Given the description of an element on the screen output the (x, y) to click on. 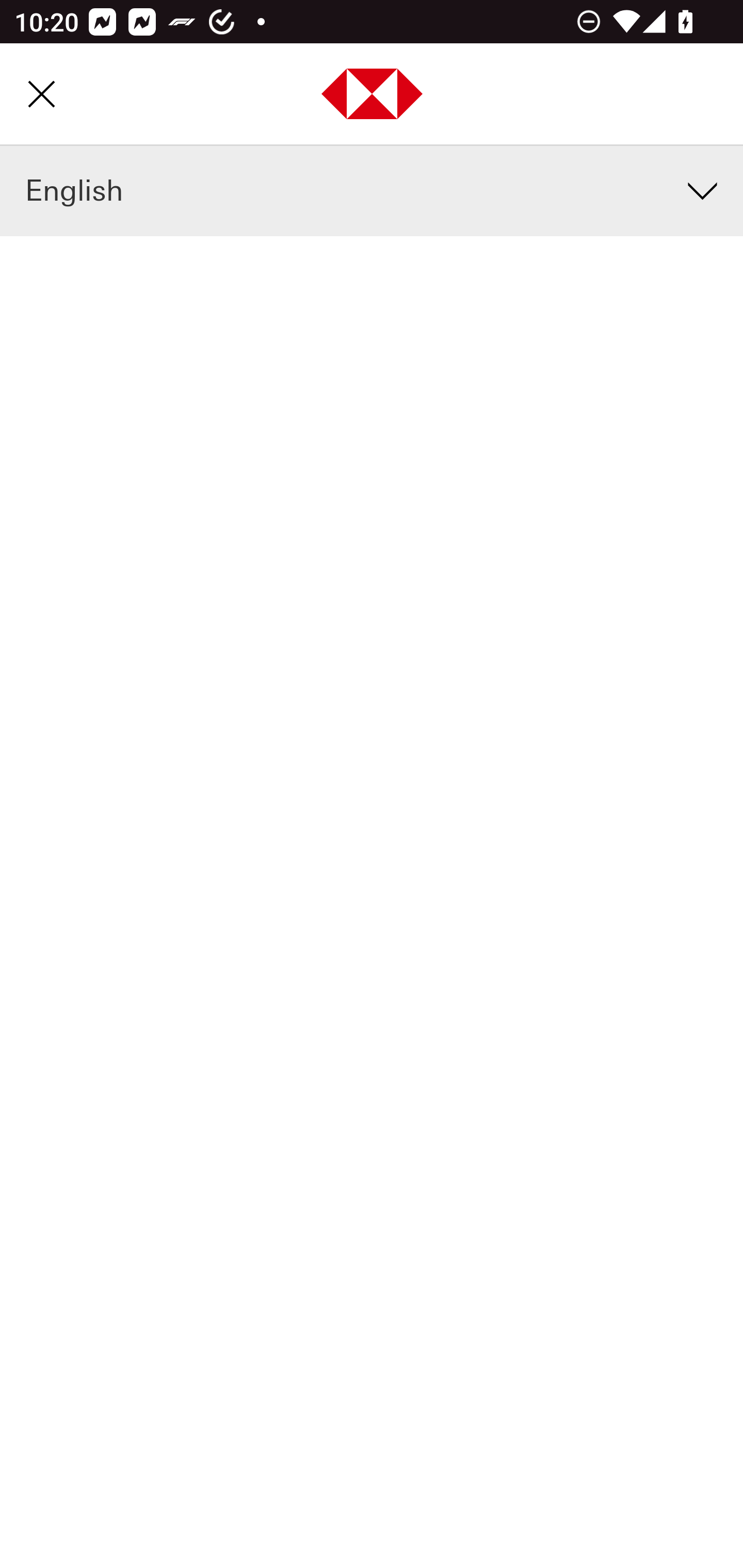
HSBC Hong Kong Bank (372, 96)
Mobile Menu Trigger (41, 94)
List of languages English (371, 191)
